Given the description of an element on the screen output the (x, y) to click on. 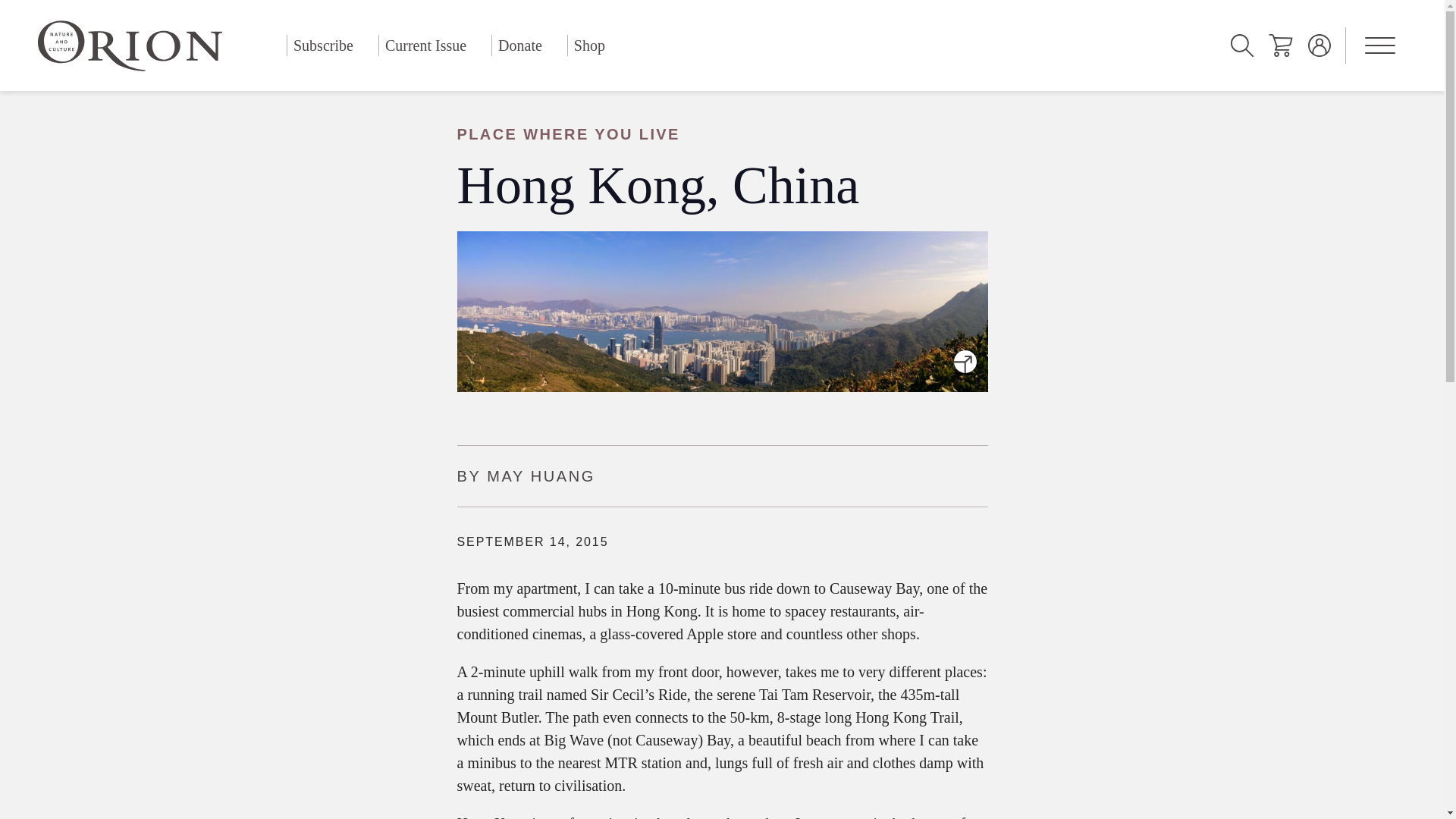
Cart (1280, 45)
EXPAND IMAGE CAPTION (964, 361)
Account Dashboard (1319, 45)
Current Issue (424, 45)
Donate (520, 45)
PLACE WHERE YOU LIVE (721, 134)
Shop (589, 45)
Subscribe (322, 45)
SEPTEMBER 14, 2015 (532, 541)
Search (1242, 45)
